Given the description of an element on the screen output the (x, y) to click on. 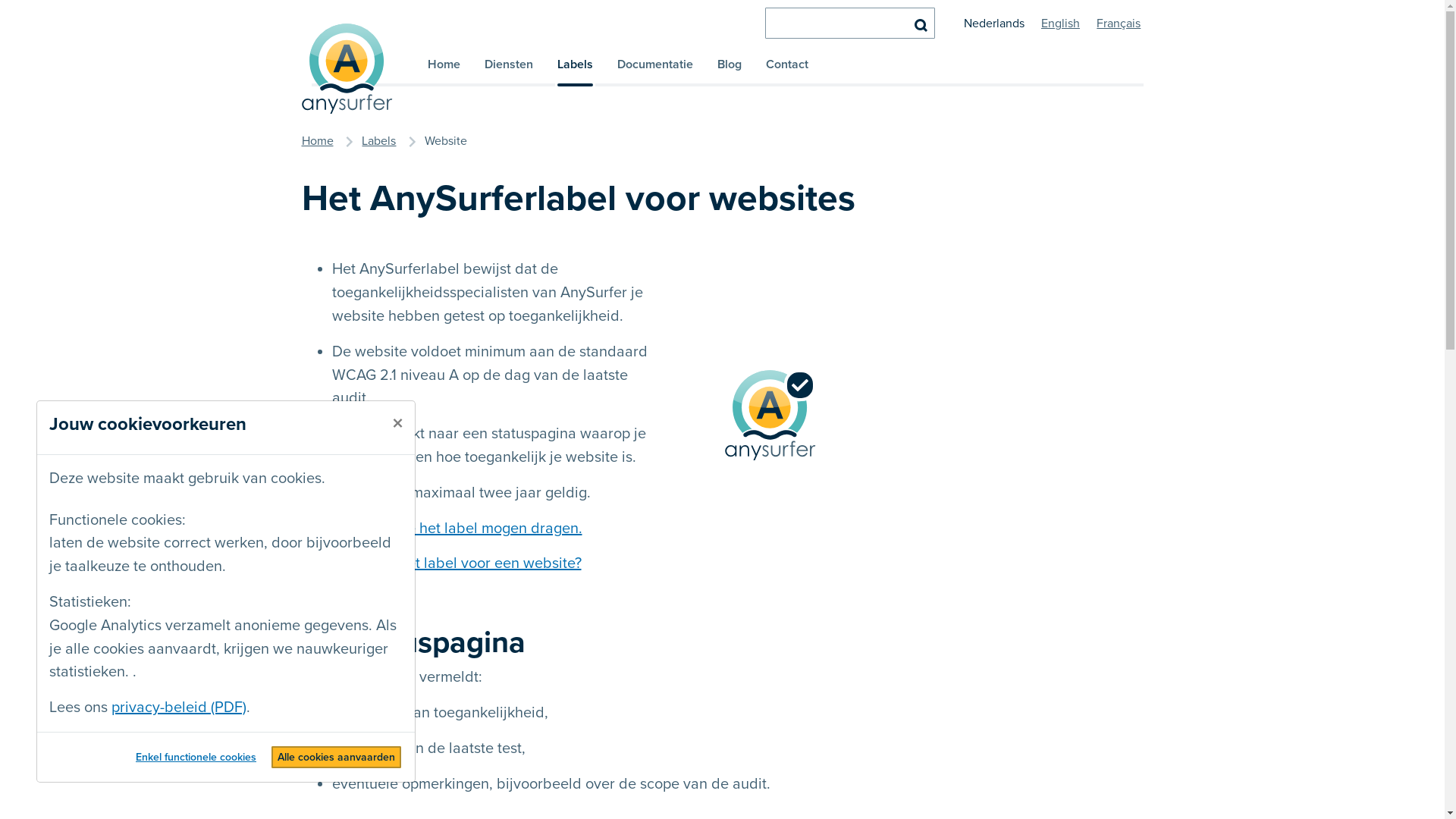
Blog Element type: text (729, 70)
Alle cookies aanvaarden Element type: text (335, 756)
Labels Element type: text (378, 140)
Contact Element type: text (786, 70)
Enkel functionele cookies Element type: text (195, 756)
Home Element type: text (317, 140)
Alle websites die het label mogen dragen. Element type: text (441, 528)
Documentatie Element type: text (655, 70)
Diensten Element type: text (507, 70)
Zoeken Element type: text (920, 24)
English Element type: text (1060, 23)
Labels Element type: text (574, 70)
privacy-beleid (PDF) Element type: text (178, 707)
Home Element type: text (443, 70)
Hoe behaal je het label voor een website? Element type: text (441, 563)
